Given the description of an element on the screen output the (x, y) to click on. 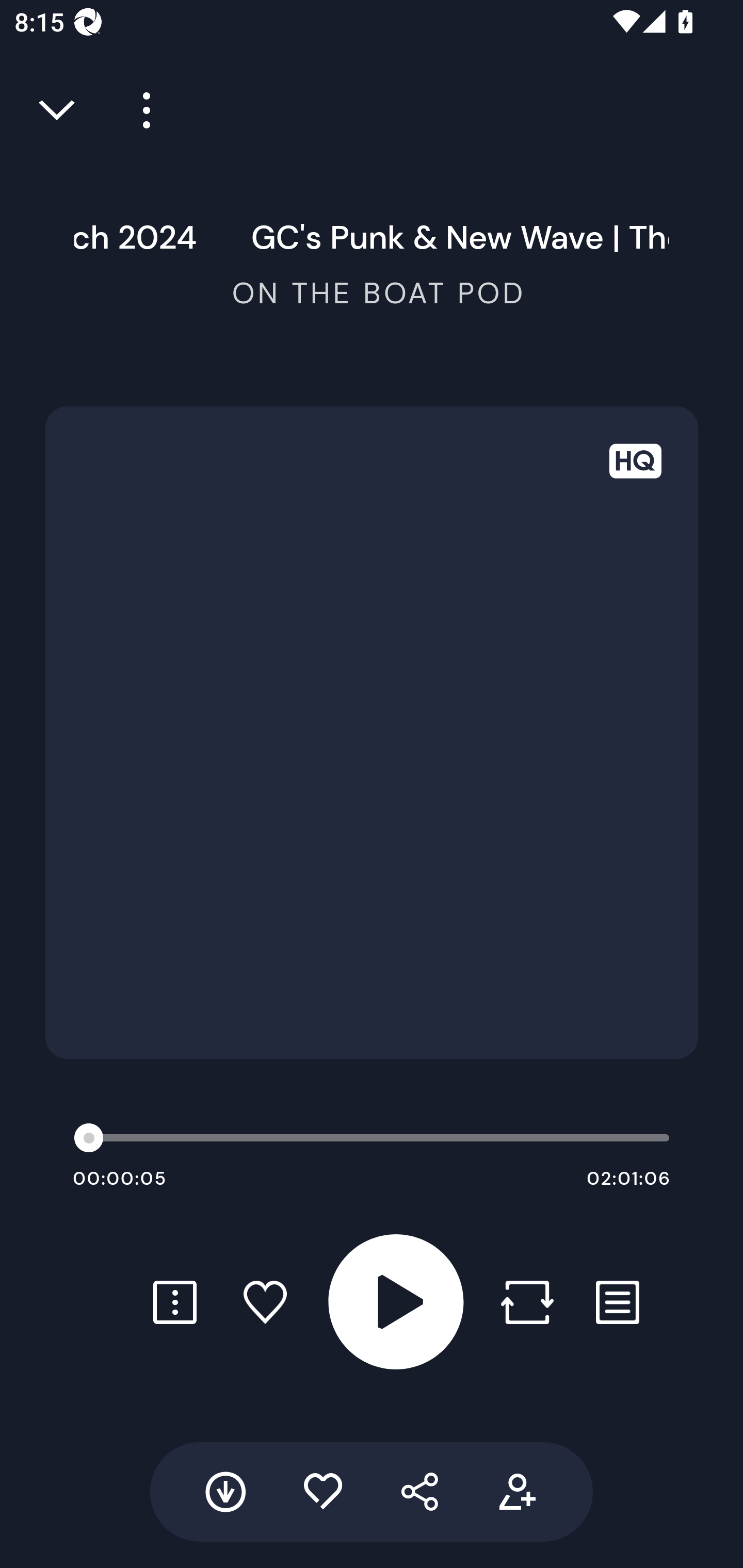
Close full player (58, 110)
Player more options button (139, 110)
Repost button (527, 1301)
